Given the description of an element on the screen output the (x, y) to click on. 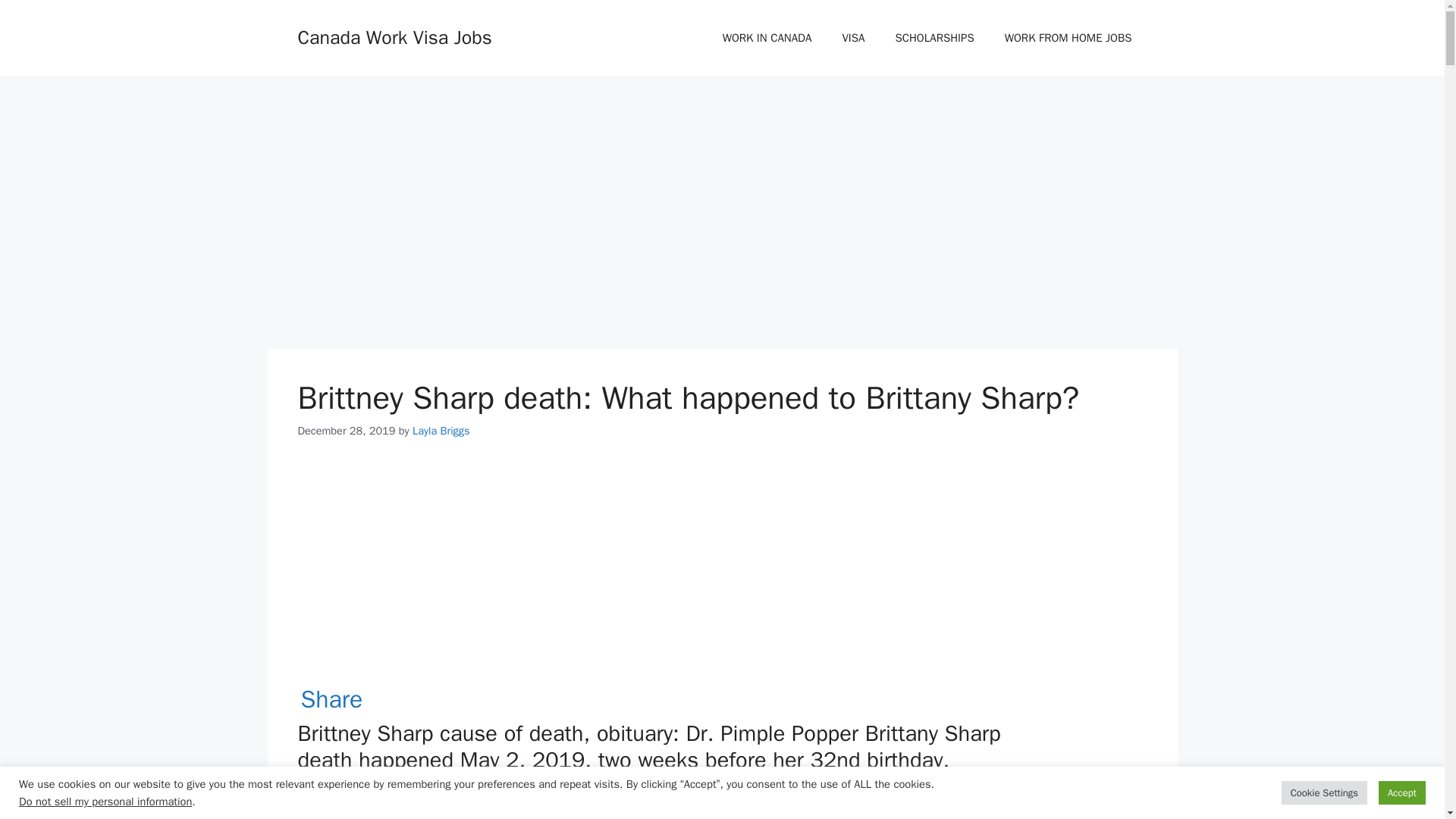
Share (331, 699)
Canada Work Visa Jobs (394, 37)
WORK FROM HOME JOBS (1068, 37)
SCHOLARSHIPS (933, 37)
Layla Briggs (441, 430)
VISA (853, 37)
WORK IN CANADA (767, 37)
View all posts by Layla Briggs (441, 430)
